Given the description of an element on the screen output the (x, y) to click on. 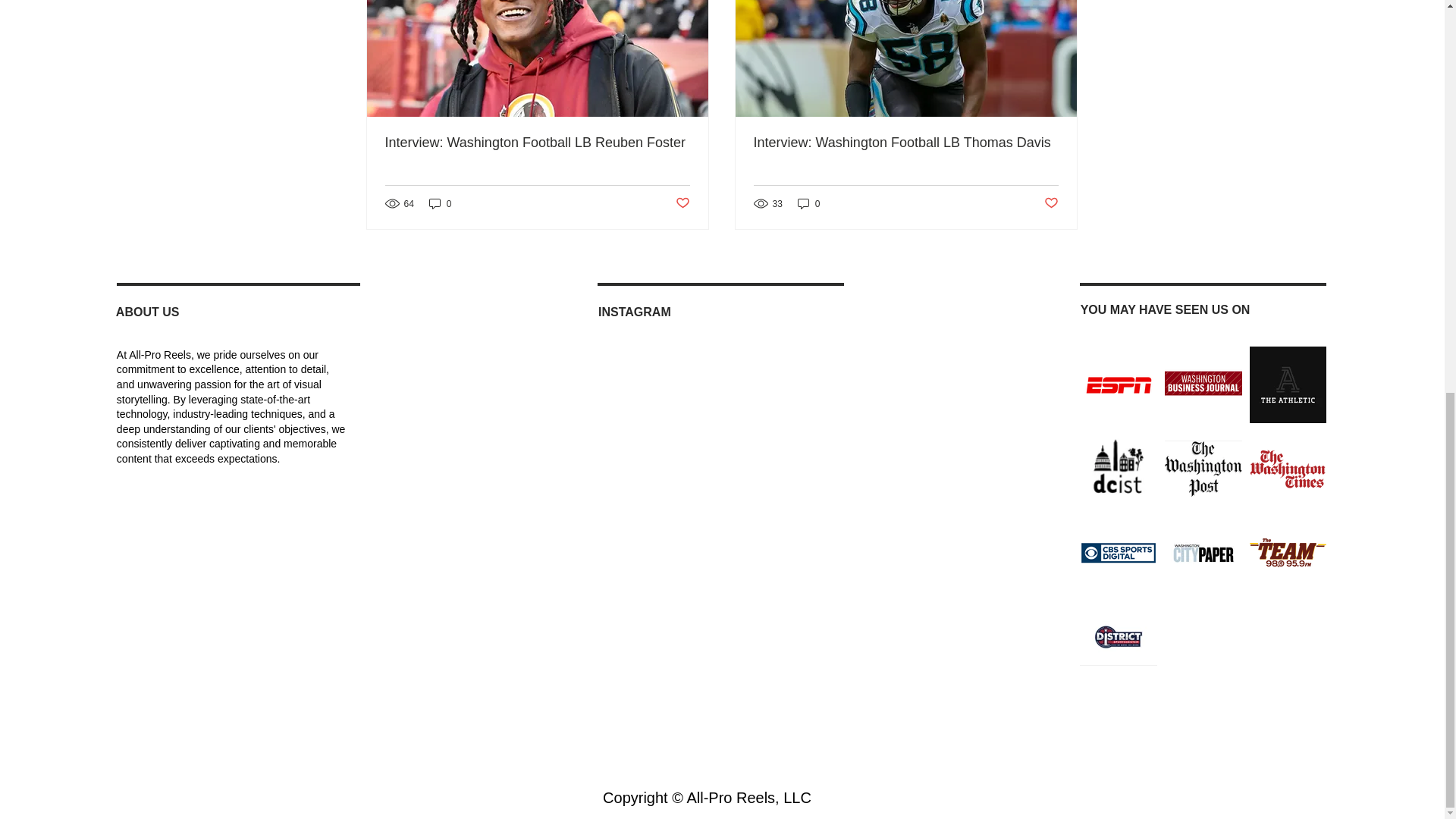
0 (440, 203)
Post not marked as liked (681, 203)
Interview: Washington Football LB Reuben Foster (537, 142)
